Given the description of an element on the screen output the (x, y) to click on. 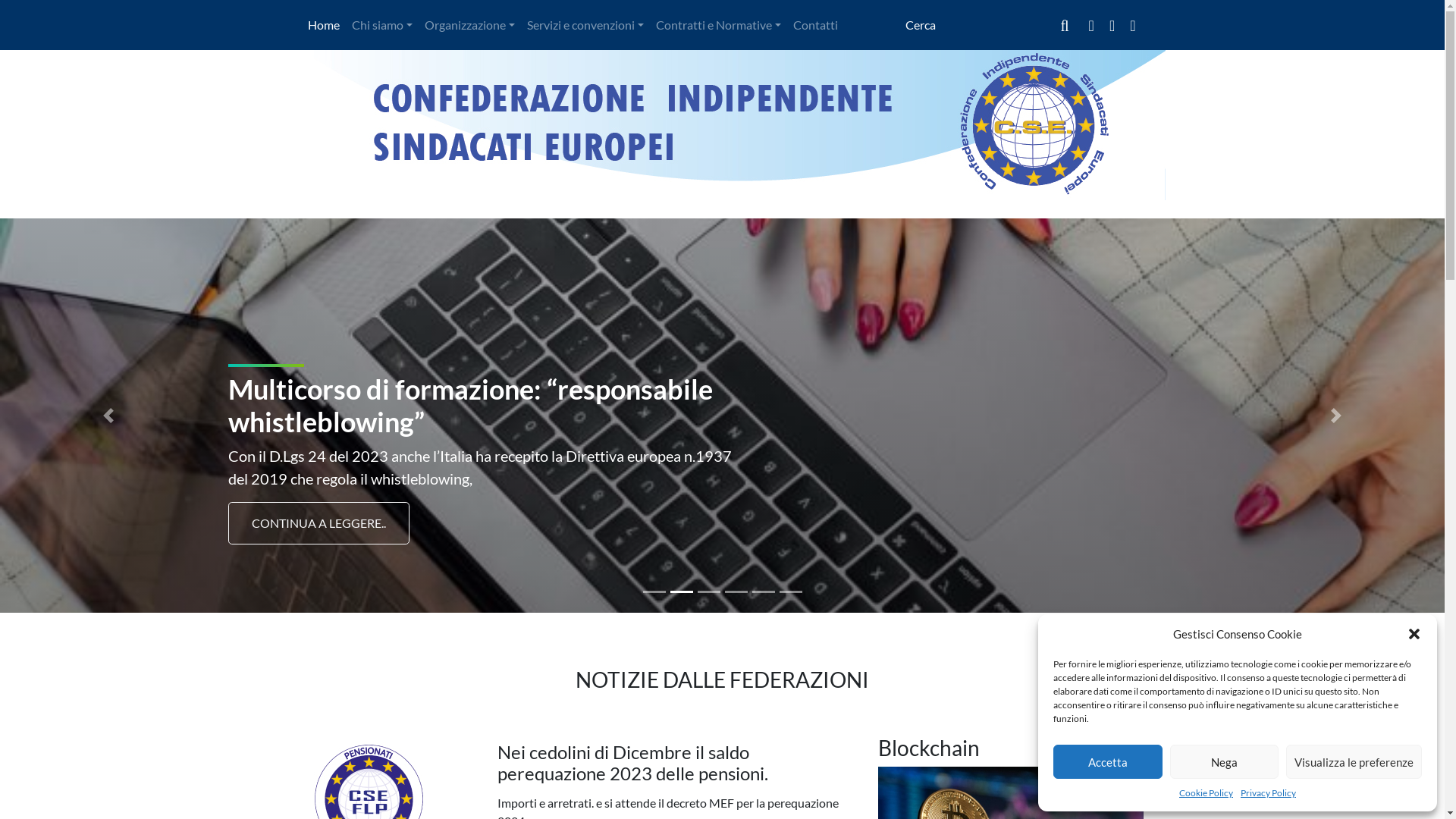
Privacy Policy Element type: text (1267, 793)
CONTINUA A LEGGERE.. Element type: text (318, 523)
Contratti e Normative Element type: text (718, 24)
Previous Element type: text (108, 415)
Cookie Policy Element type: text (1206, 793)
Home Element type: text (323, 24)
Visualizza le preferenze Element type: text (1353, 761)
Servizi e convenzioni Element type: text (584, 24)
Organizzazione Element type: text (469, 24)
Accetta Element type: text (1107, 761)
Chi siamo Element type: text (381, 24)
Contatti Element type: text (815, 24)
Nega Element type: text (1223, 761)
Next Element type: text (1335, 415)
